Given the description of an element on the screen output the (x, y) to click on. 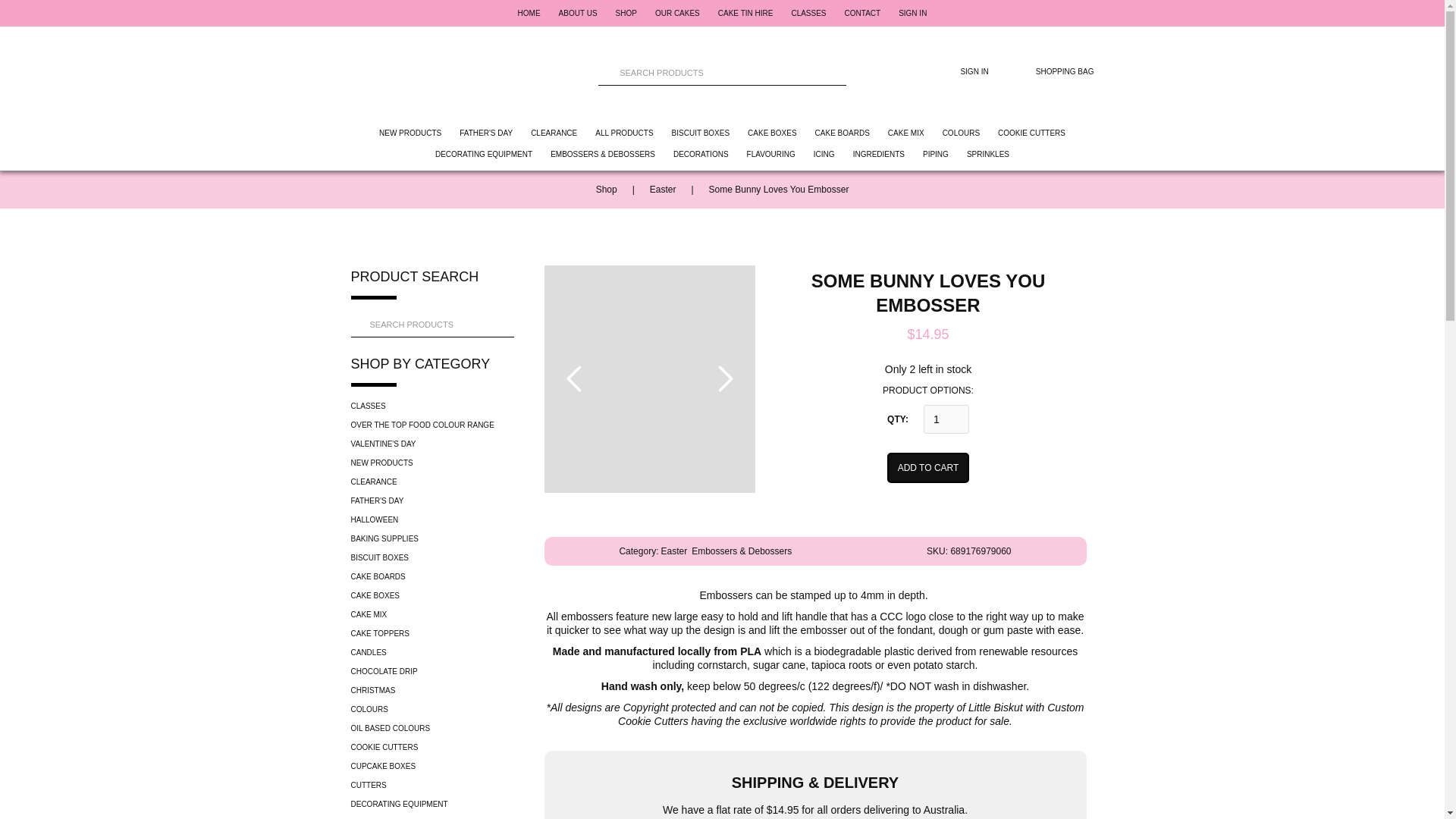
SHOP (626, 12)
DECORATING EQUIPMENT (483, 154)
COOKIE CUTTERS (1031, 133)
BISCUIT BOXES (700, 133)
CAKE TIN HIRE (745, 12)
FATHER'S DAY (486, 133)
PIPING (936, 154)
DECORATIONS (700, 154)
CAKE MIX (906, 133)
SHOPPING BAG (1051, 71)
